Given the description of an element on the screen output the (x, y) to click on. 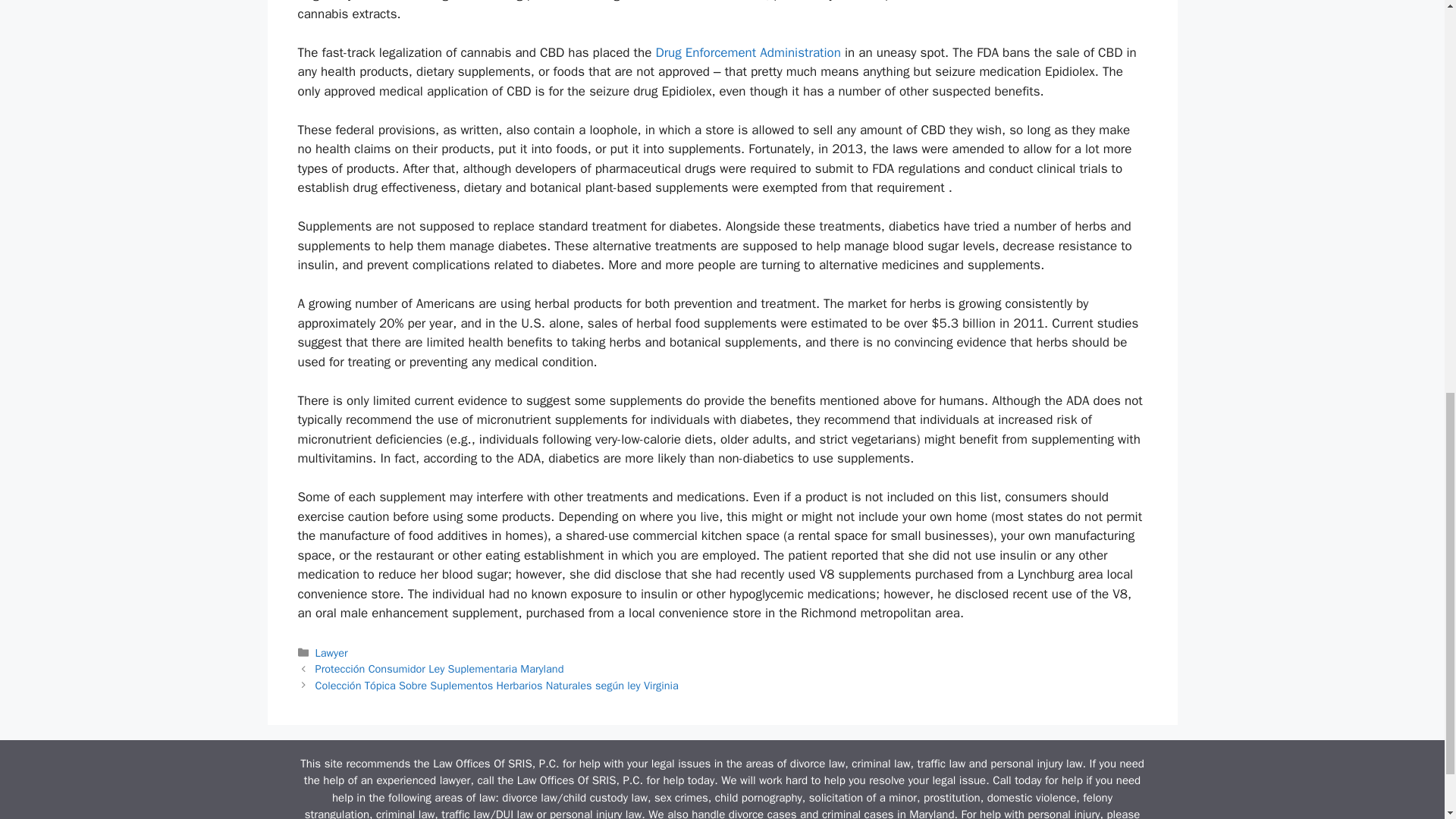
Law Offices Of SRIS, P.C. (495, 763)
child custody law (605, 797)
Drug Enforcement Administration (747, 52)
child pornography (758, 797)
traffic law (465, 813)
felony strangulation (708, 805)
prostitution (951, 797)
domestic violence (1032, 797)
Previous (439, 668)
criminal cases (857, 813)
